Given the description of an element on the screen output the (x, y) to click on. 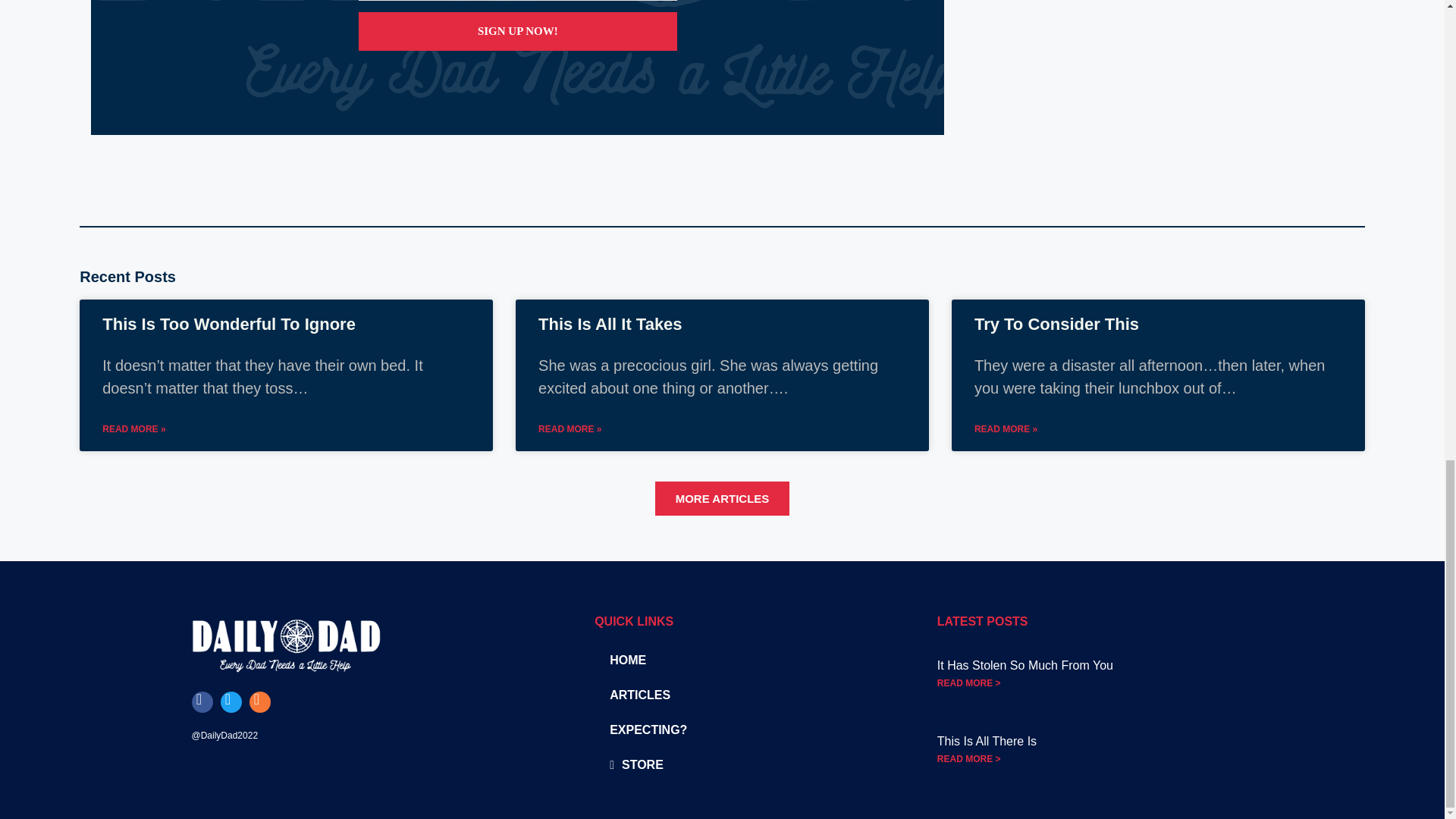
SIGN UP NOW! (517, 31)
This Is Too Wonderful To Ignore (228, 323)
It Has Stolen So Much From You (1025, 665)
EXPECTING? (727, 729)
This Is All It Takes (610, 323)
ARTICLES (727, 695)
STORE (727, 764)
Try To Consider This (1056, 323)
HOME (727, 660)
This Is All There Is (986, 740)
